Given the description of an element on the screen output the (x, y) to click on. 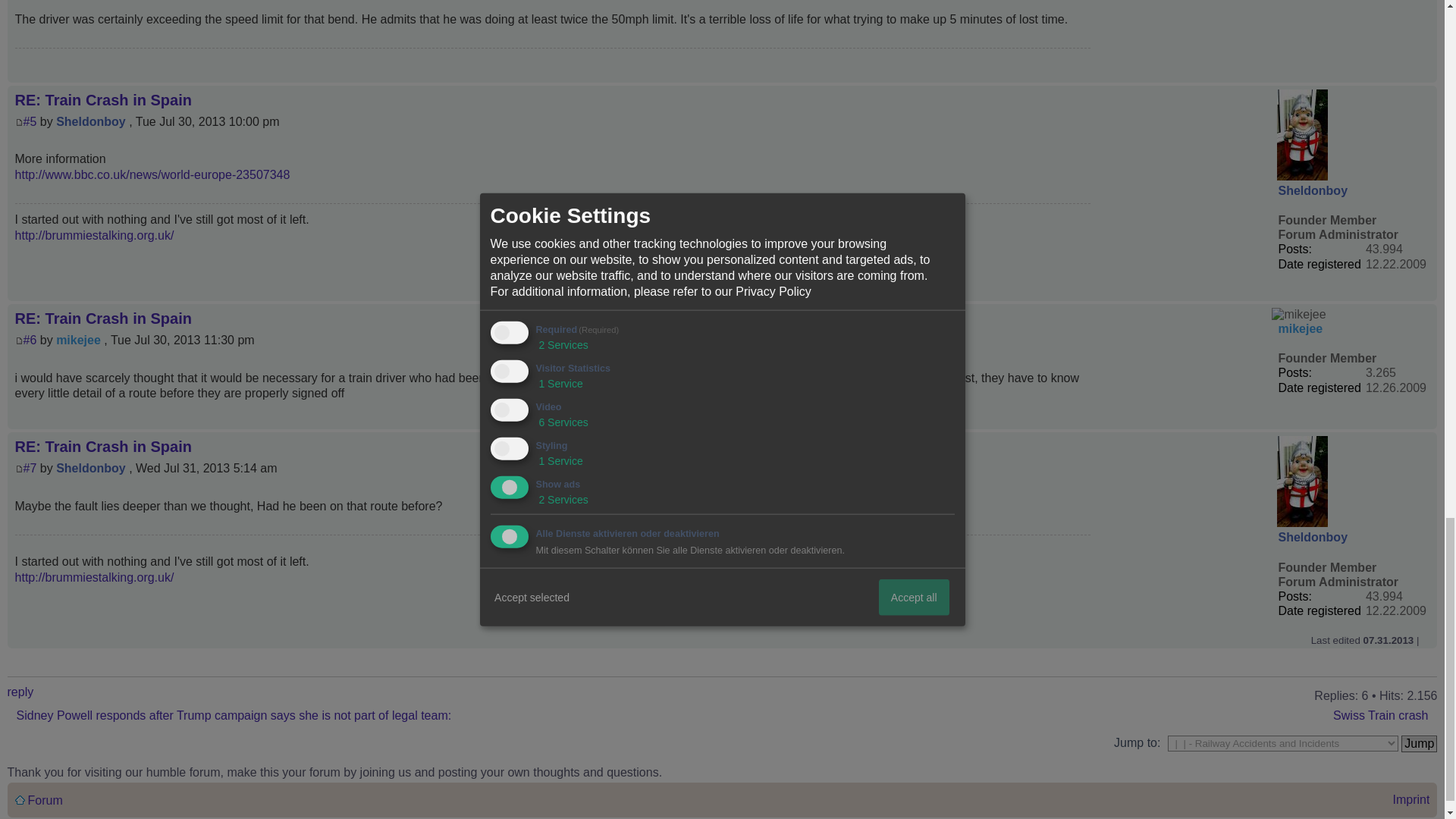
RE: Train Crash in Spain (30, 468)
Top (1425, 74)
Jump (1418, 743)
RE: Train Crash in Spain (30, 339)
Top (1425, 420)
Top (1425, 293)
mikejee (1297, 314)
Top (1425, 640)
RE: Train Crash in Spain (30, 121)
Show all posts (26, 658)
